Given the description of an element on the screen output the (x, y) to click on. 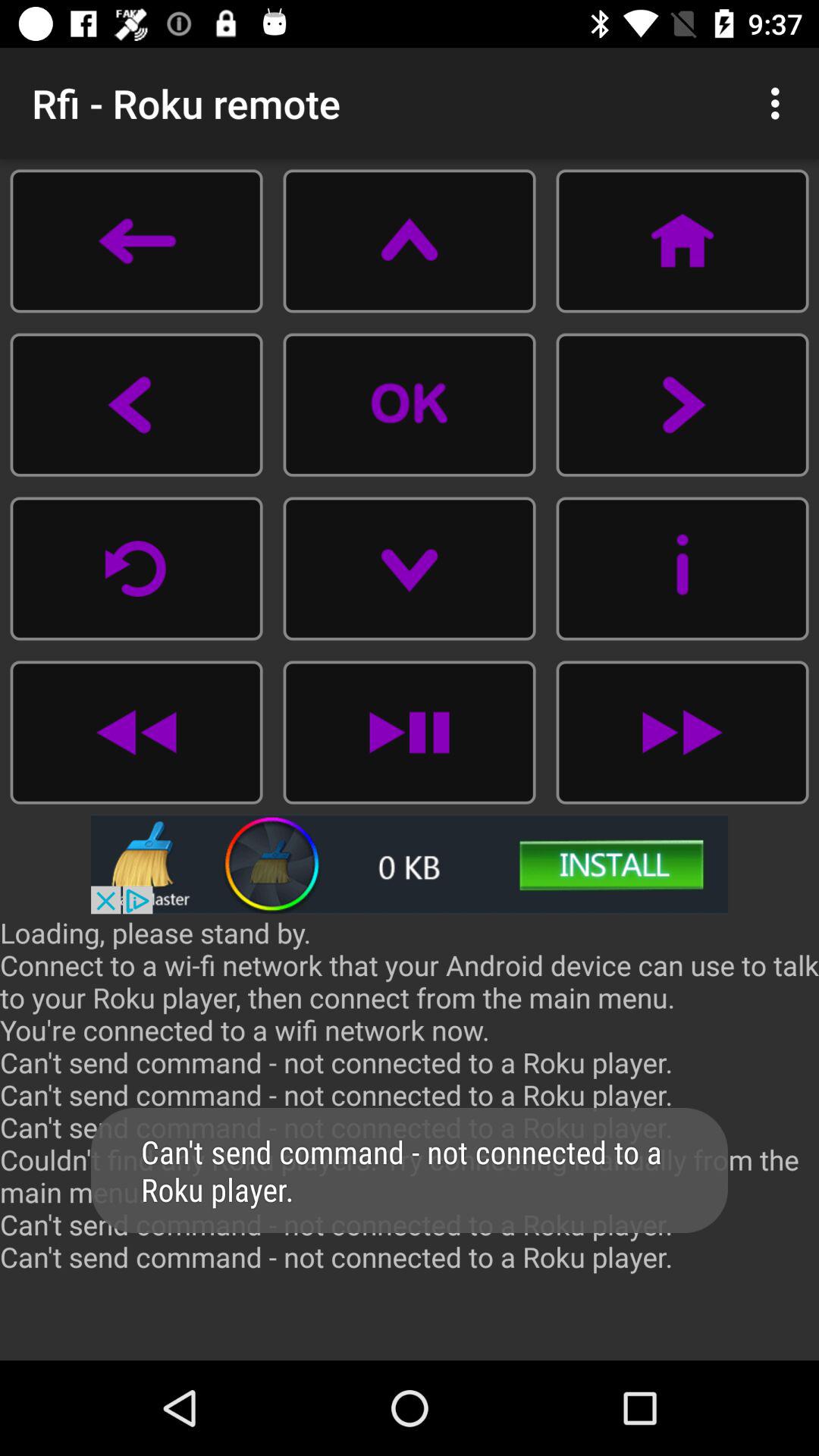
go to previous (136, 568)
